Given the description of an element on the screen output the (x, y) to click on. 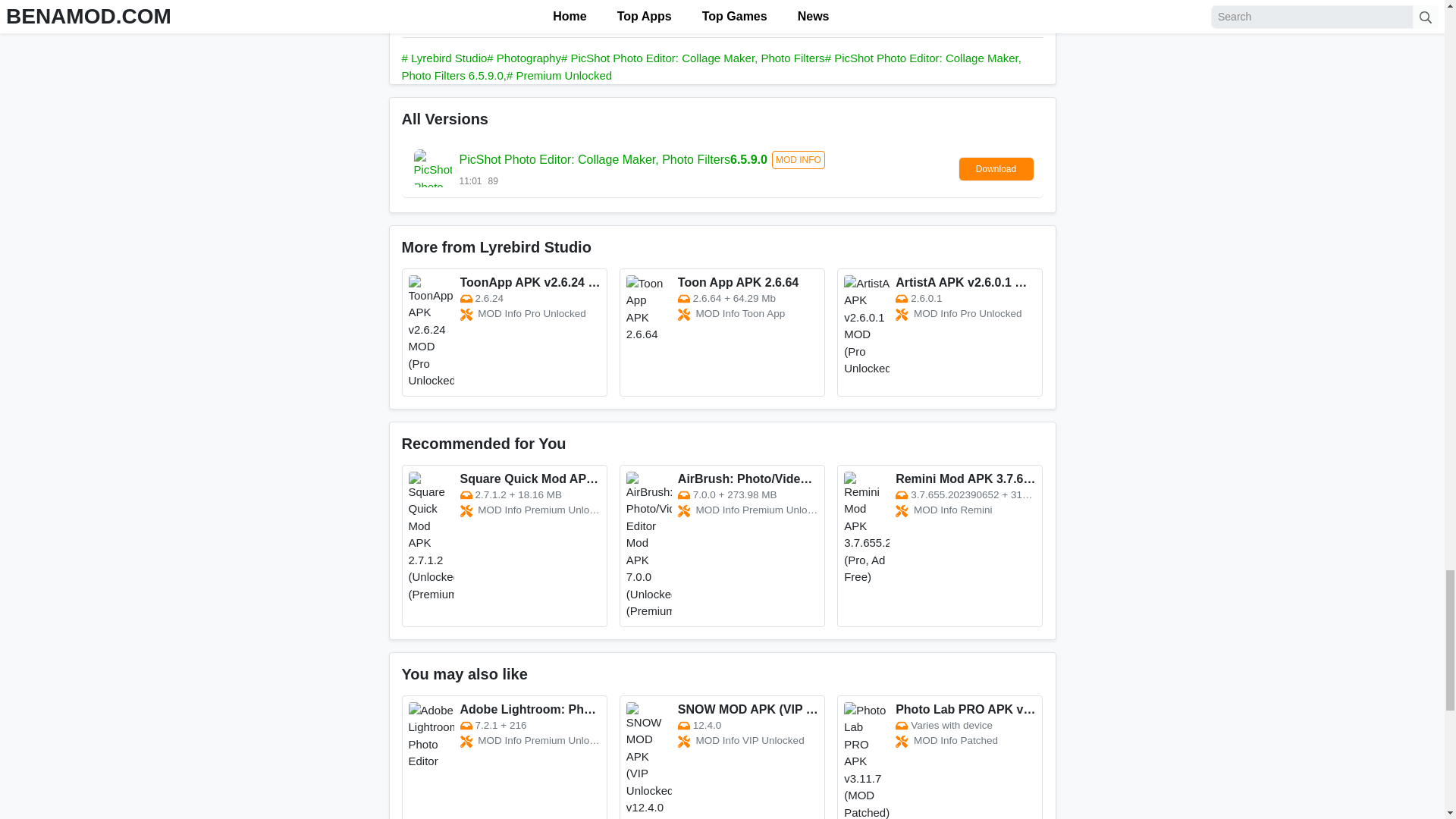
Premium Unlocked tag (558, 74)
Photography tag (523, 57)
Lyrebird Studio tag (444, 57)
PicShot Photo Editor: Collage Maker, Photo Filters tag (692, 57)
Toon App APK 2.6.64 (722, 332)
